Given the description of an element on the screen output the (x, y) to click on. 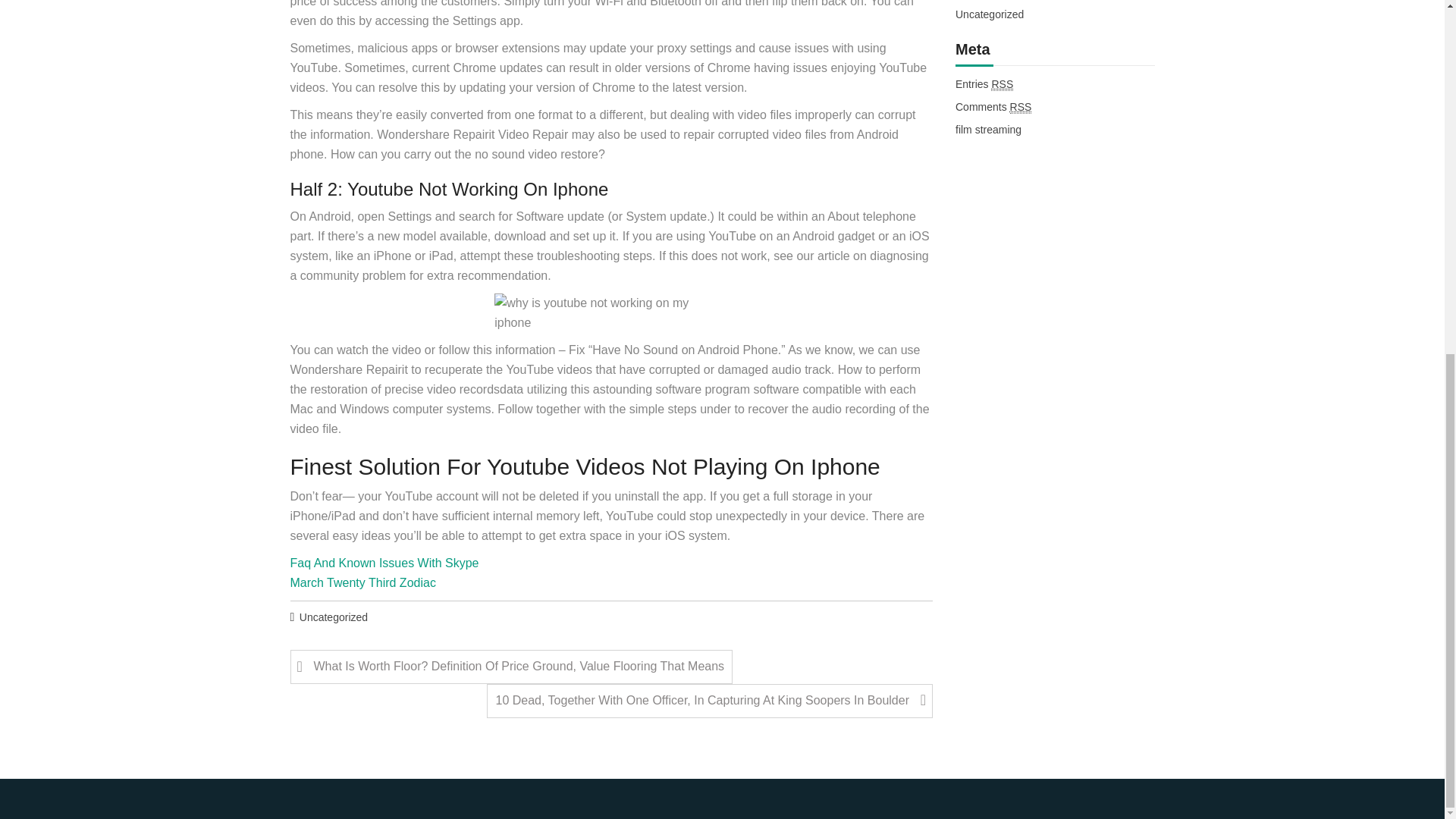
March Twenty Third Zodiac (362, 582)
Really Simple Syndication (1021, 106)
film streaming (988, 130)
Really Simple Syndication (1002, 83)
Uncategorized (333, 618)
Comments RSS (992, 107)
Faq And Known Issues With Skype (384, 563)
Entries RSS (984, 84)
